Given the description of an element on the screen output the (x, y) to click on. 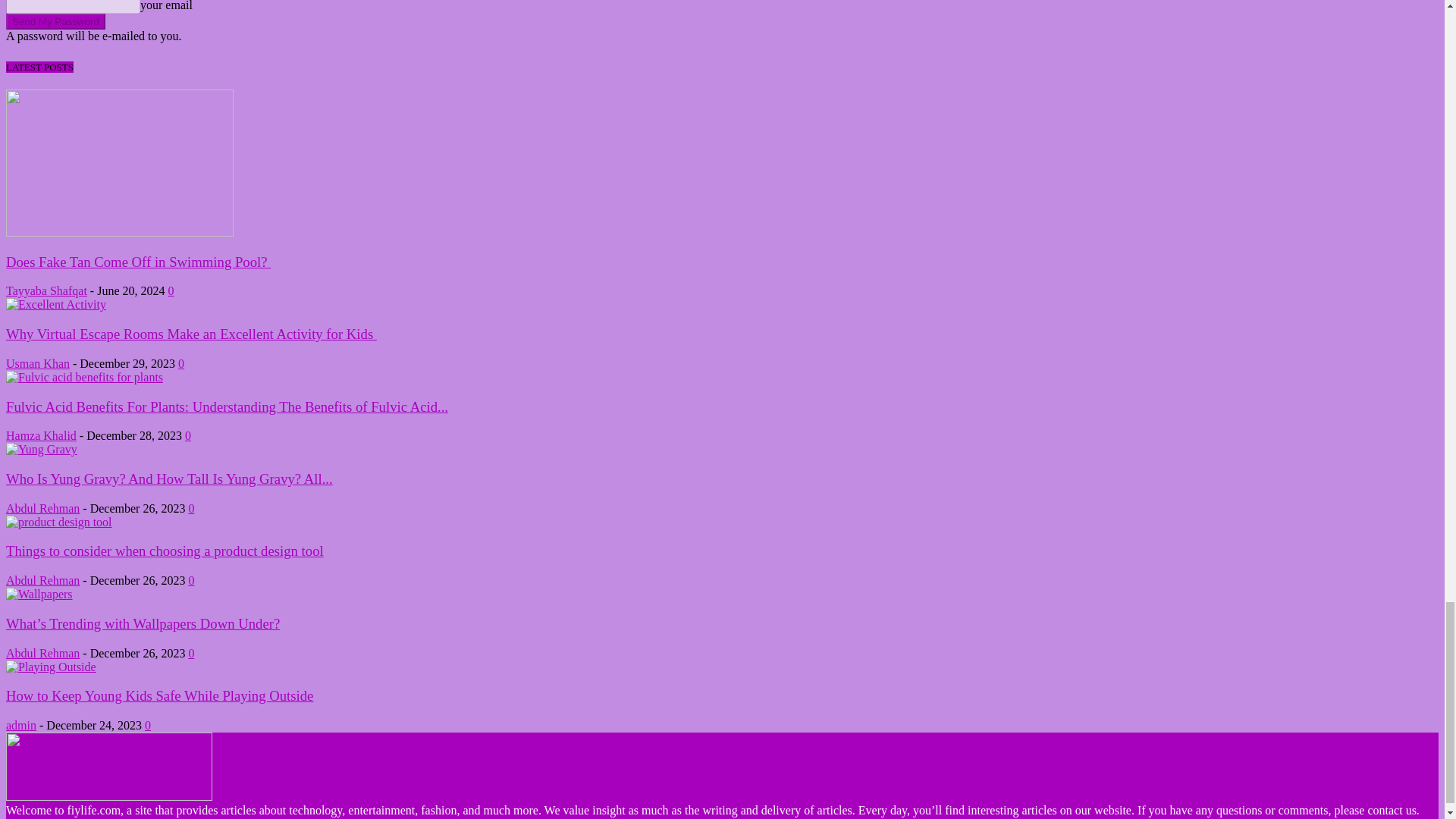
Send My Password (54, 21)
